Given the description of an element on the screen output the (x, y) to click on. 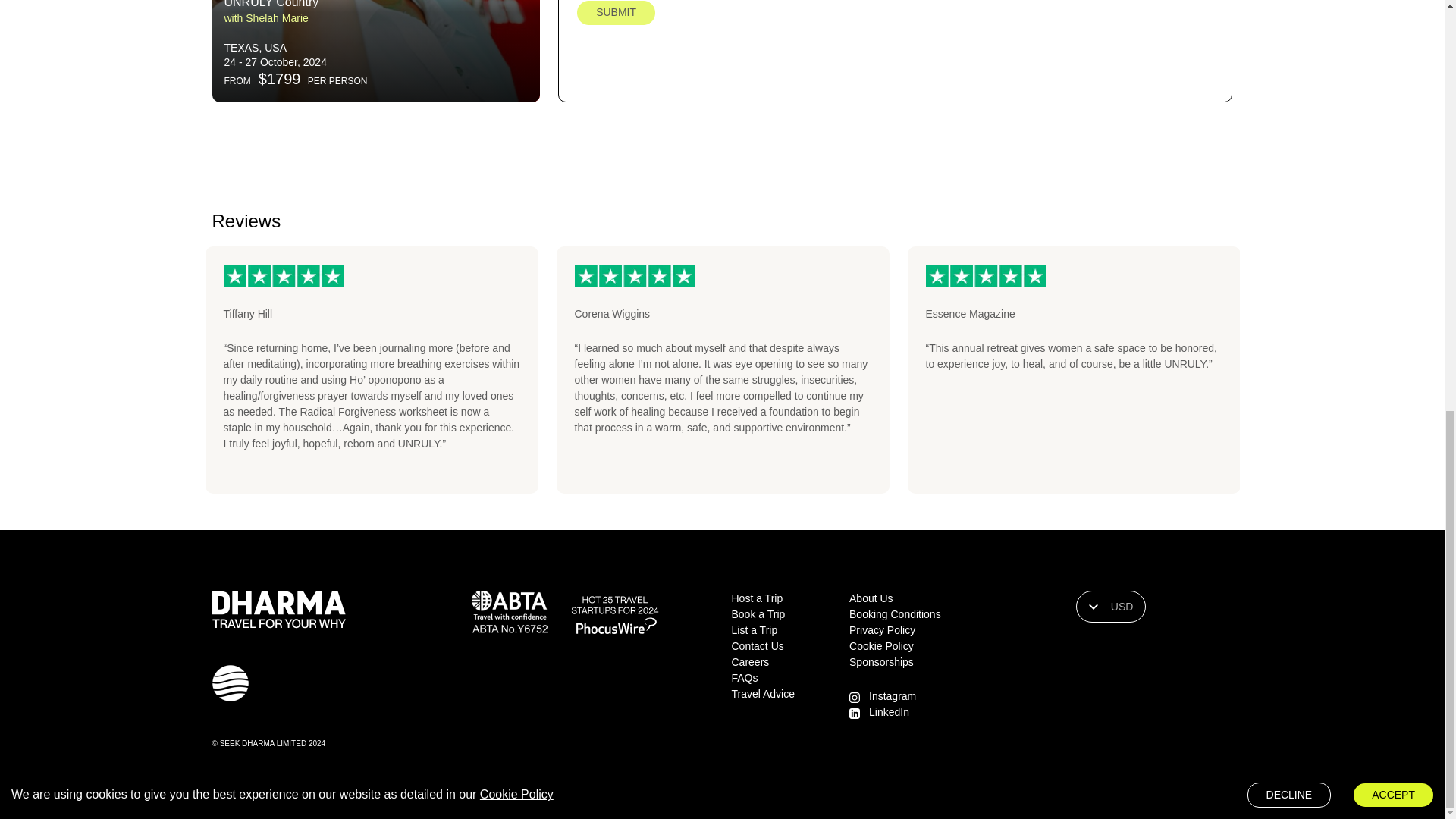
Host a Trip (756, 598)
Book a Trip (757, 613)
List a Trip (753, 630)
Careers (749, 662)
Instagram (892, 695)
Travel Advice (762, 693)
Sponsorships (881, 662)
About Us (870, 598)
Contact Us (756, 645)
Cookie Policy (881, 645)
FAQs (743, 677)
Booking Conditions (894, 613)
SUBMIT (615, 12)
LinkedIn (888, 711)
Privacy Policy (881, 630)
